Given the description of an element on the screen output the (x, y) to click on. 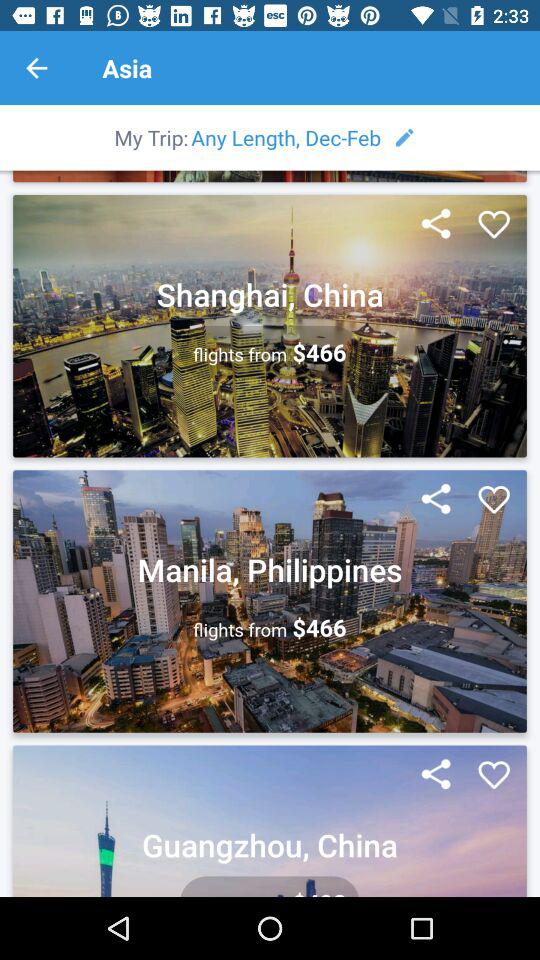
choose the item next to the asia (36, 68)
